Given the description of an element on the screen output the (x, y) to click on. 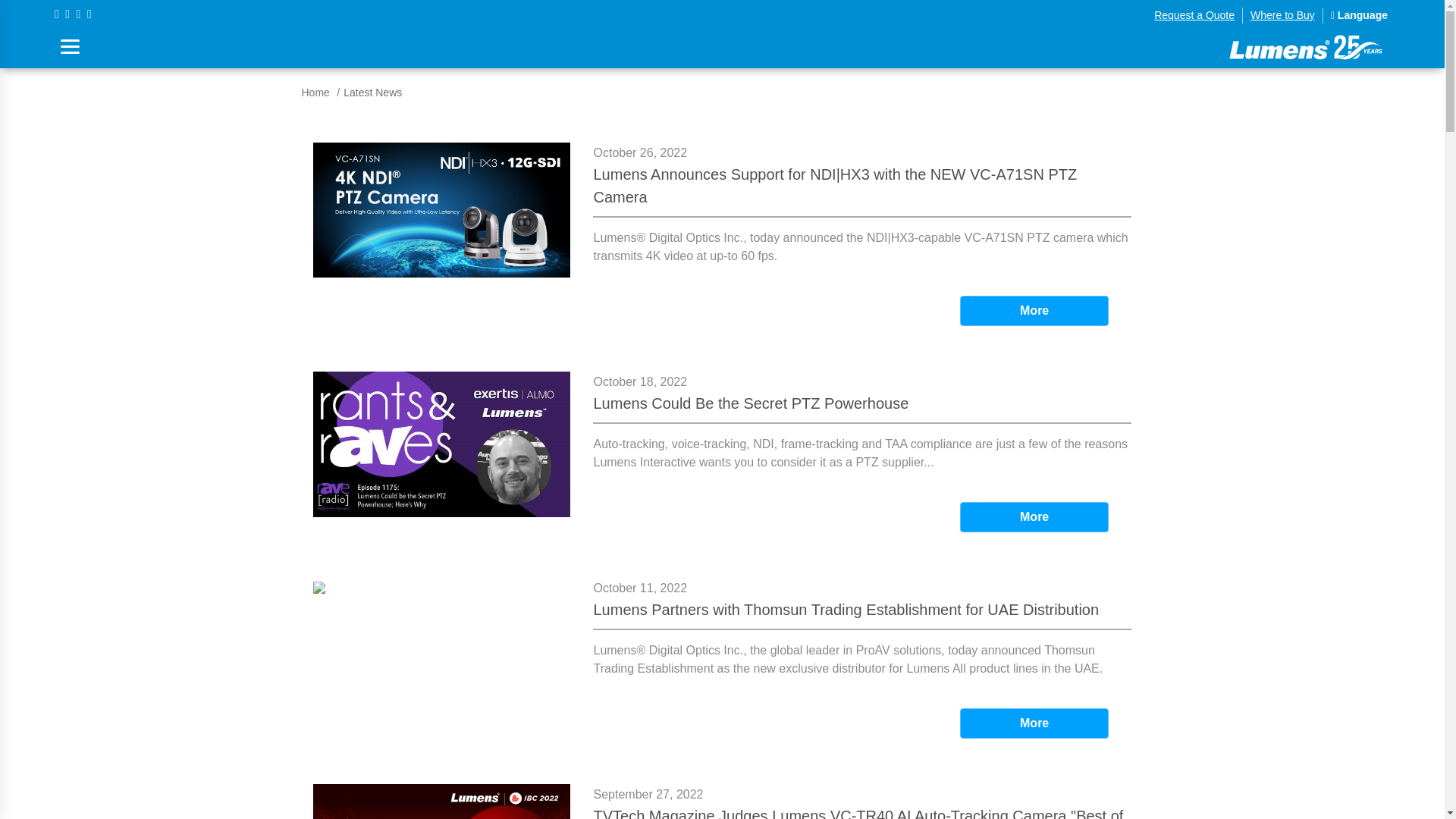
Where to Buy (1282, 15)
Language (1358, 15)
Request a Quote (1194, 15)
